Given the description of an element on the screen output the (x, y) to click on. 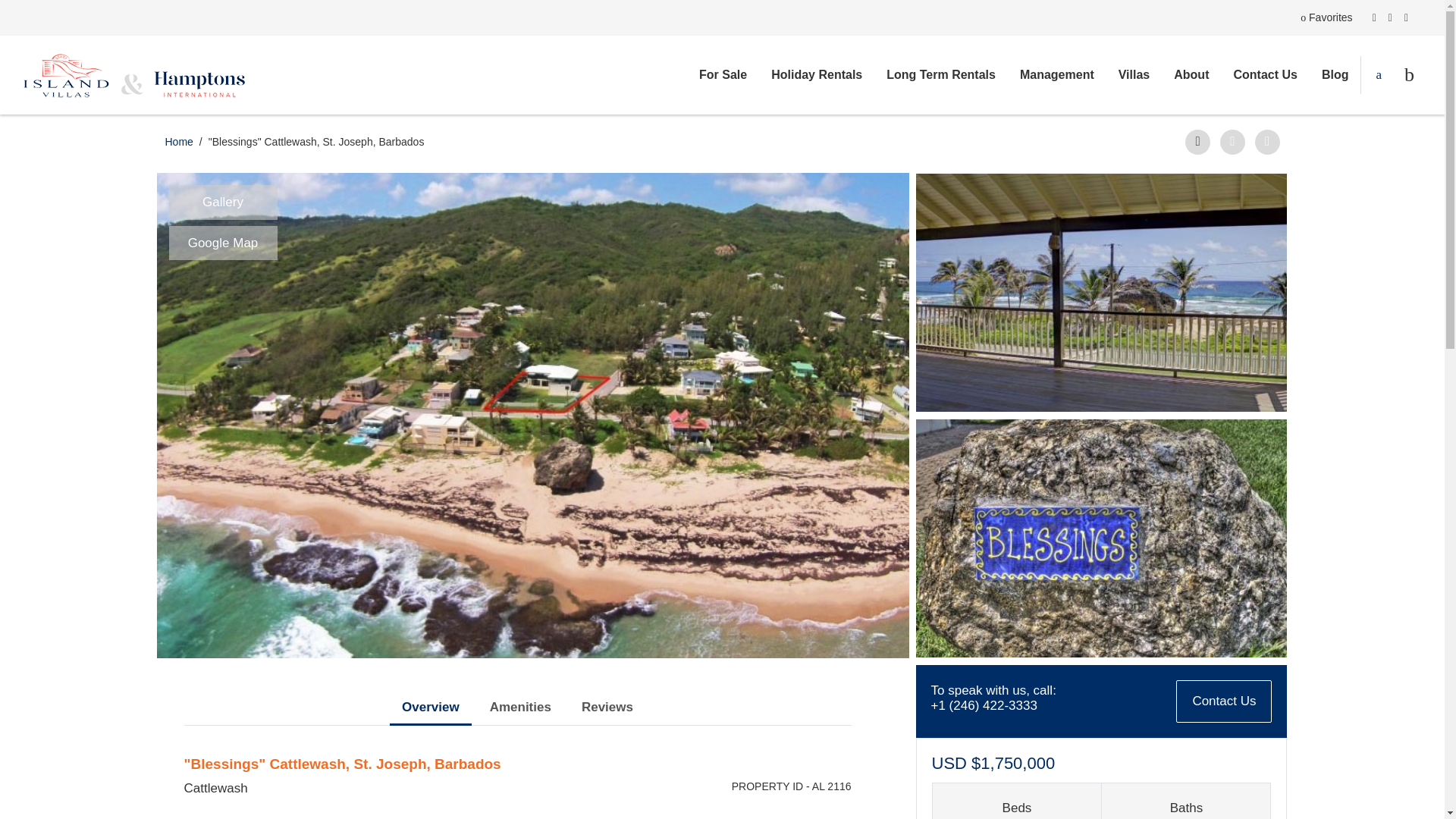
Management (1056, 75)
Contact Us (1264, 75)
Favorites (1326, 17)
Contact Us (1264, 75)
Holiday Rentals (816, 75)
For Sale (722, 75)
Barbados Long Term Rentals (941, 75)
Long Term Rentals (941, 75)
Real Estate For Sales in Barbados (722, 75)
Holiday Rentals (816, 75)
